Given the description of an element on the screen output the (x, y) to click on. 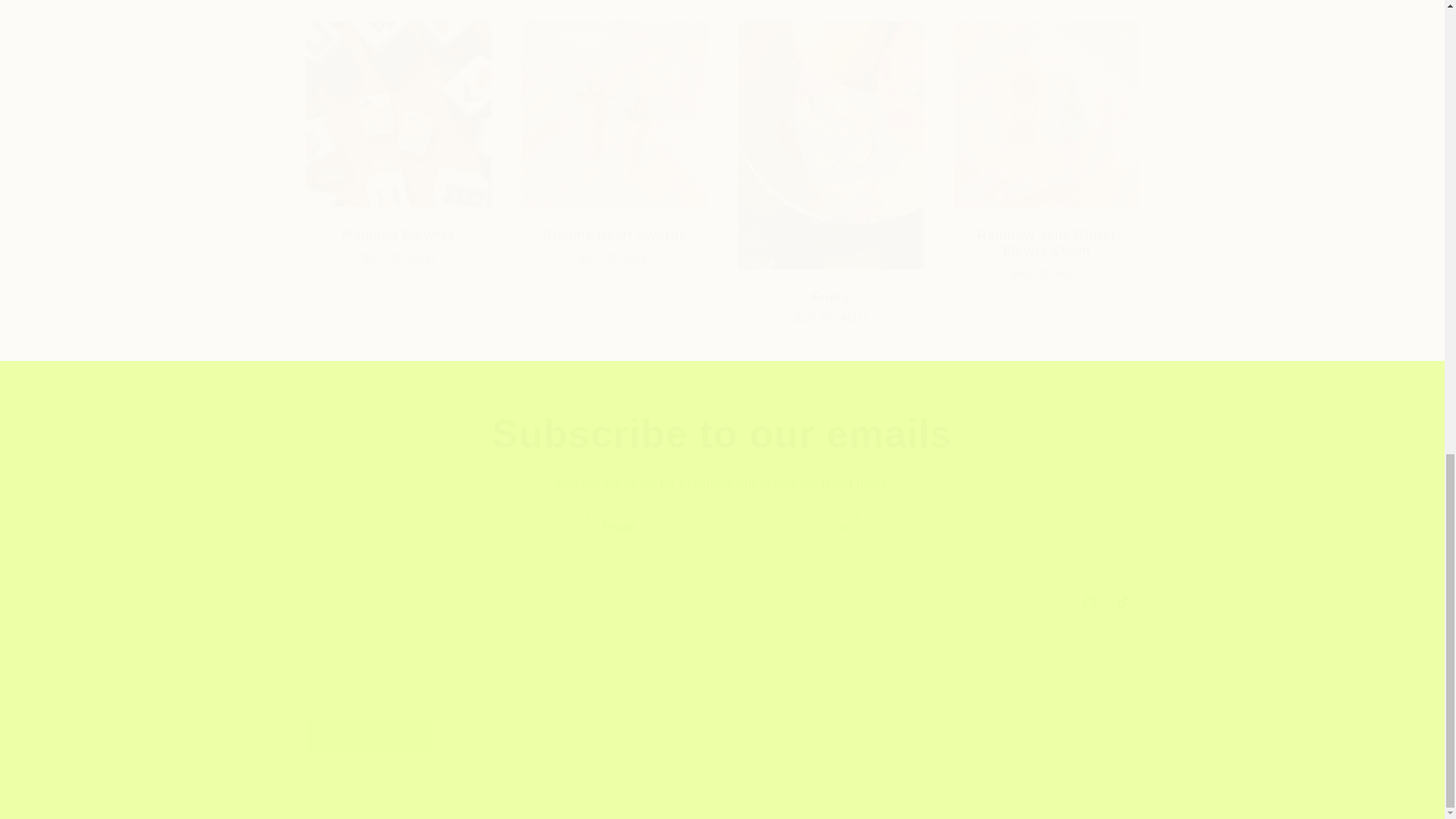
Email (722, 528)
Subscribe to our emails (721, 602)
